Given the description of an element on the screen output the (x, y) to click on. 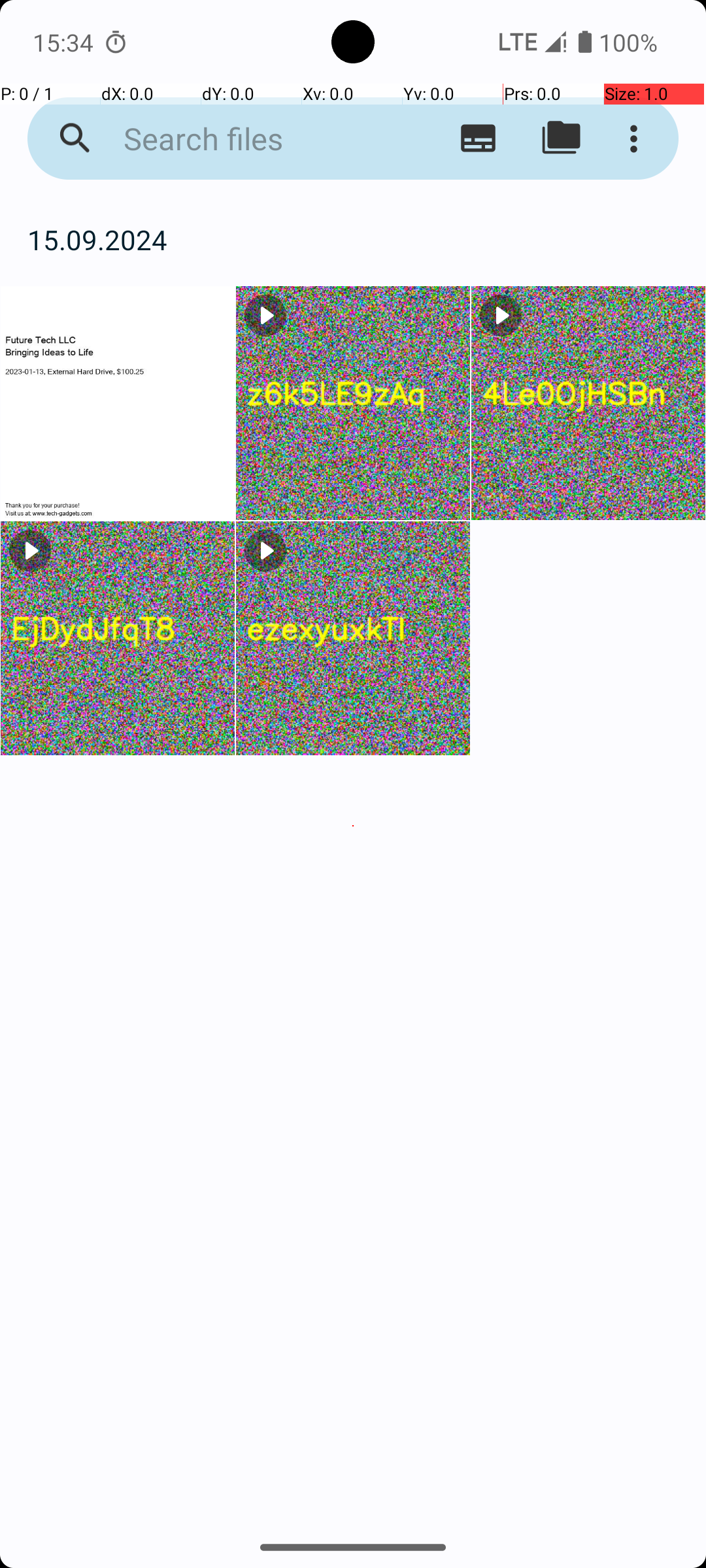
Search files Element type: android.widget.EditText (252, 138)
Switch to folder view Element type: android.widget.Button (560, 138)
15.09.2024 Element type: android.widget.TextView (353, 239)
